Given the description of an element on the screen output the (x, y) to click on. 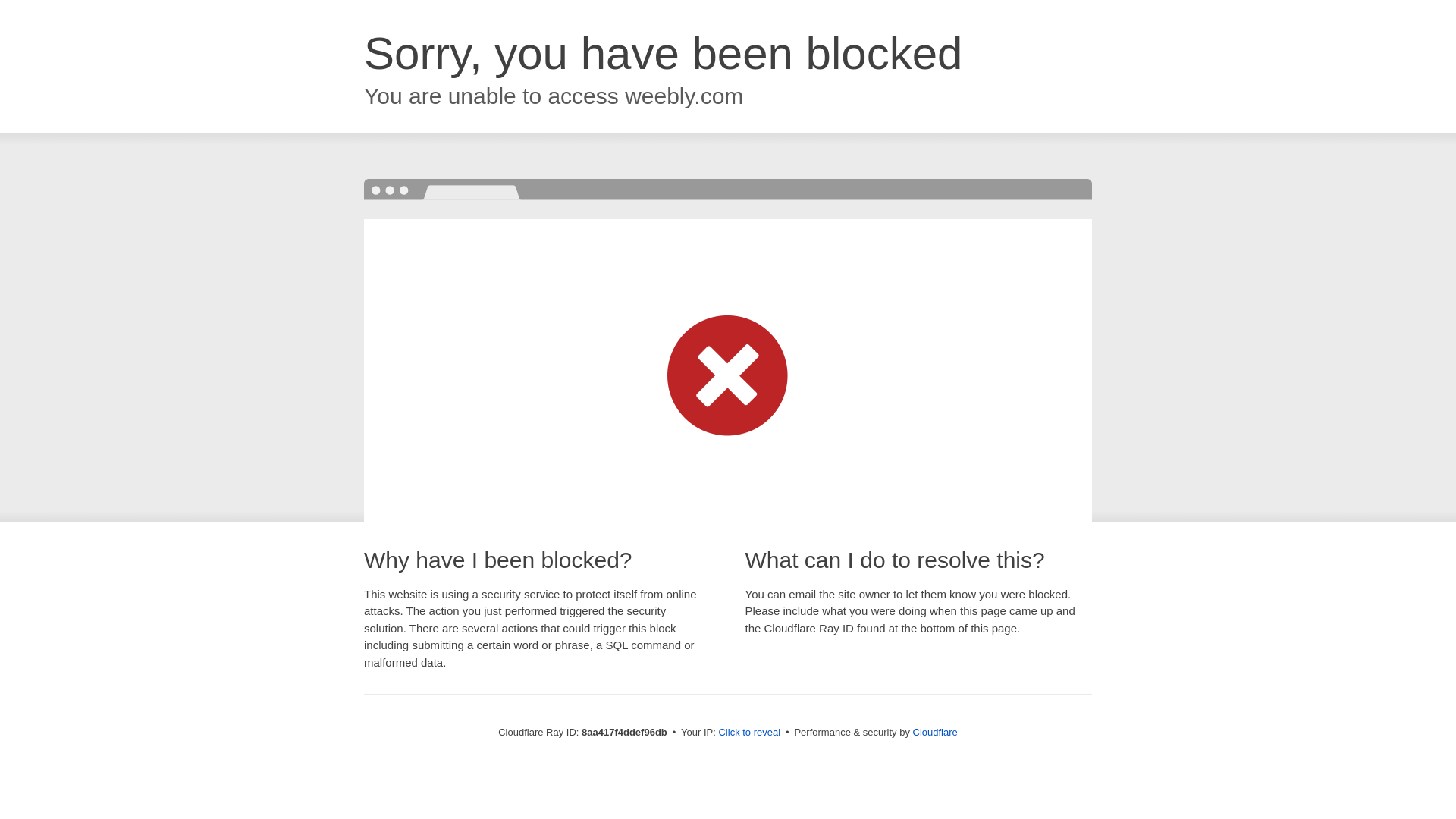
Cloudflare (935, 731)
Click to reveal (748, 732)
